Given the description of an element on the screen output the (x, y) to click on. 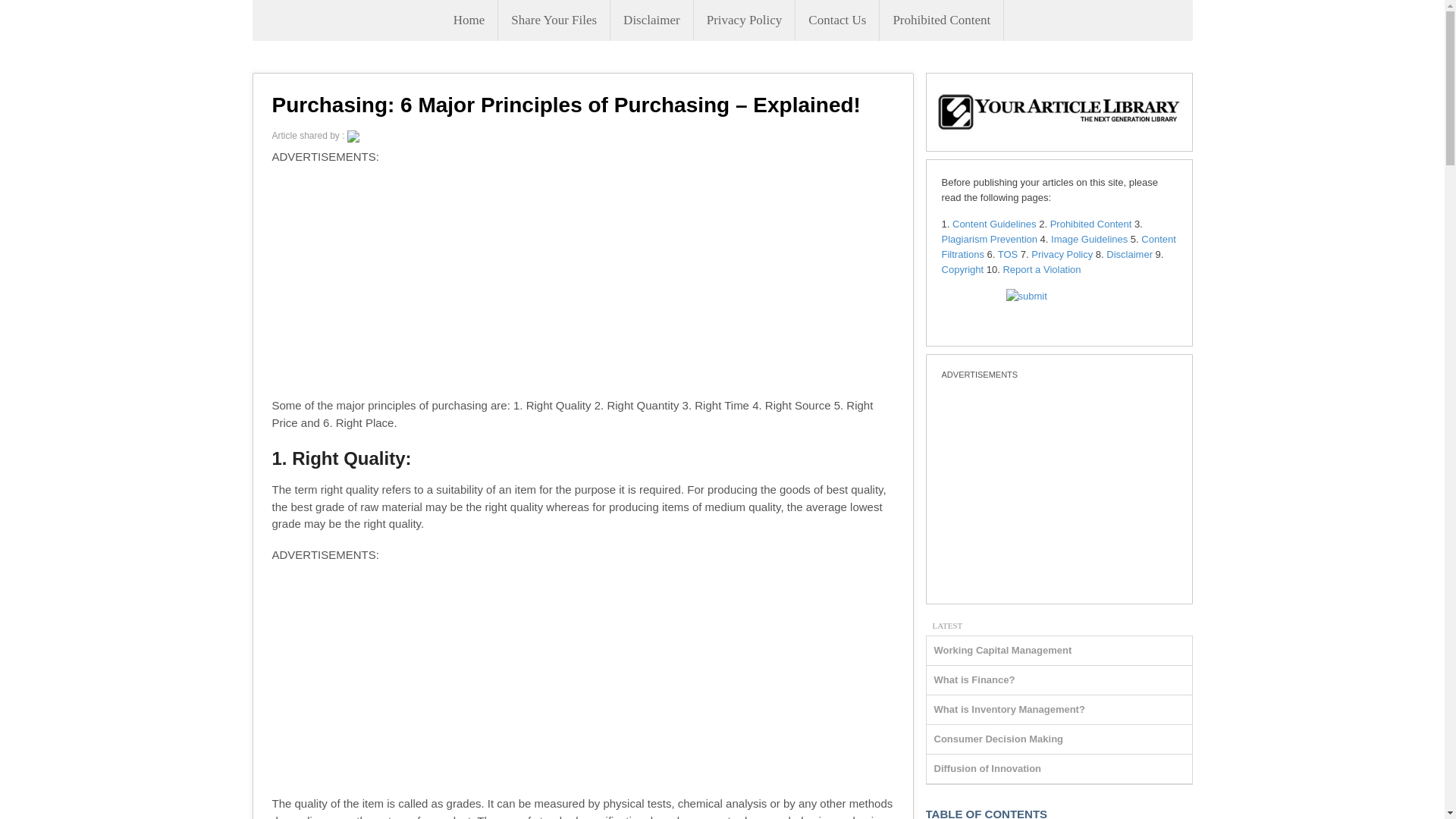
Prohibited Content (1090, 224)
What is Finance? (974, 679)
Diffusion of Innovation (988, 767)
Content Guidelines (994, 224)
Report a Violation (1041, 269)
What is Finance? (974, 679)
Working Capital Management (1002, 650)
What is Inventory Management? (1009, 708)
Home (469, 20)
Share Your Files (553, 20)
